Given the description of an element on the screen output the (x, y) to click on. 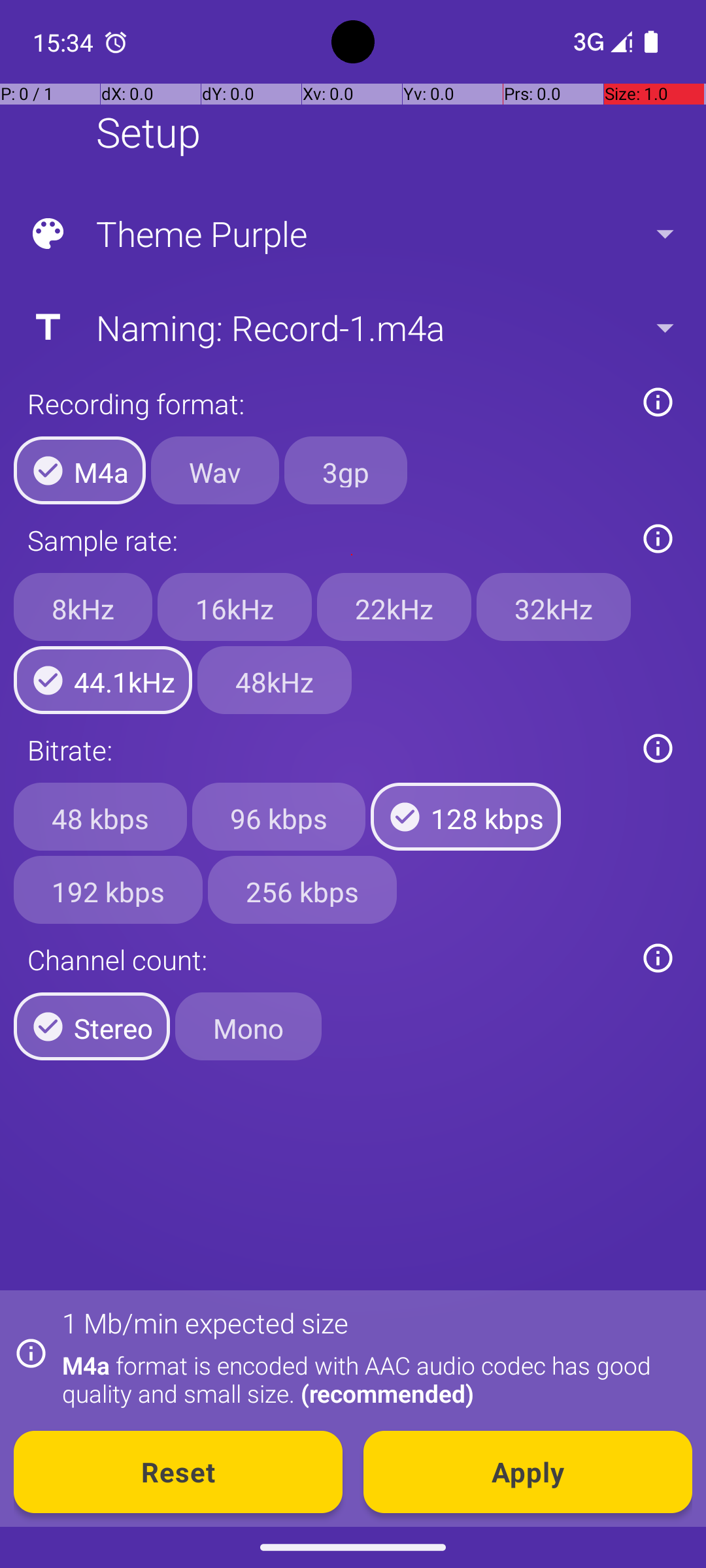
Clock notification: Missed alarm Element type: android.widget.ImageView (115, 41)
